Given the description of an element on the screen output the (x, y) to click on. 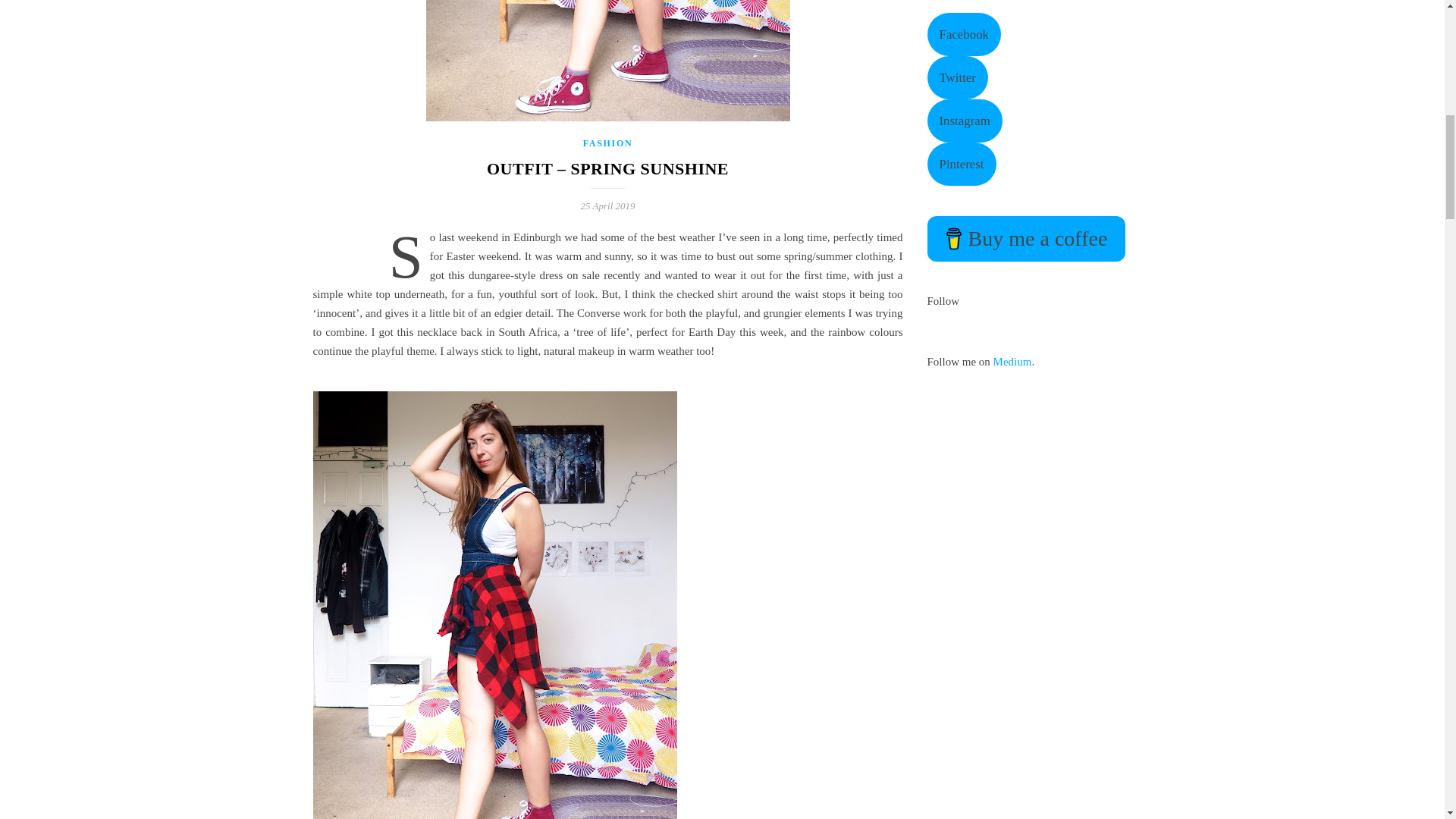
Twitter (956, 77)
Facebook (963, 34)
Pinterest (960, 163)
Instagram (963, 120)
